Given the description of an element on the screen output the (x, y) to click on. 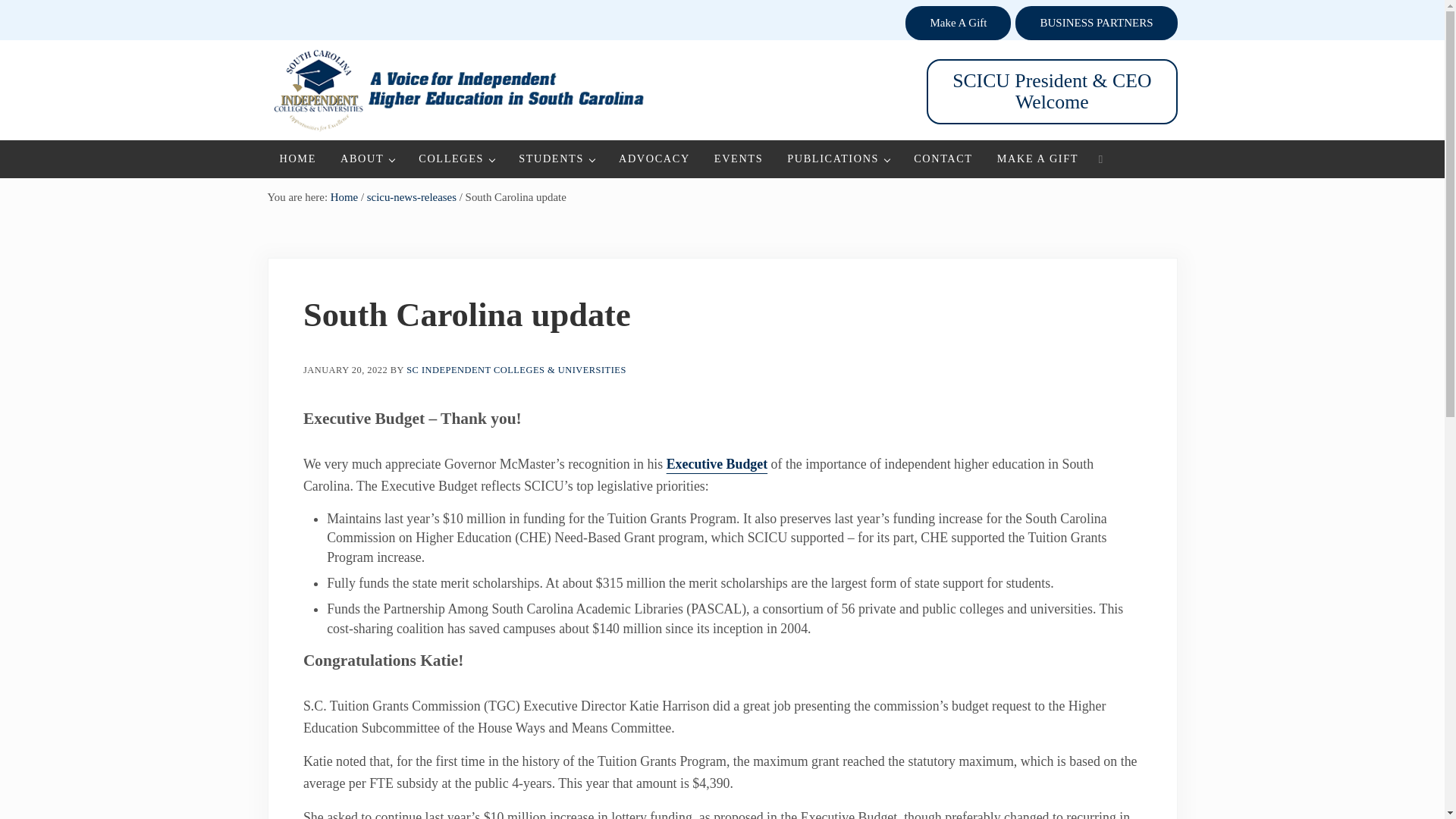
ABOUT (367, 158)
BUSINESS PARTNERS (1095, 22)
HOME (297, 158)
COLLEGES (456, 158)
Make A Gift (957, 22)
